Given the description of an element on the screen output the (x, y) to click on. 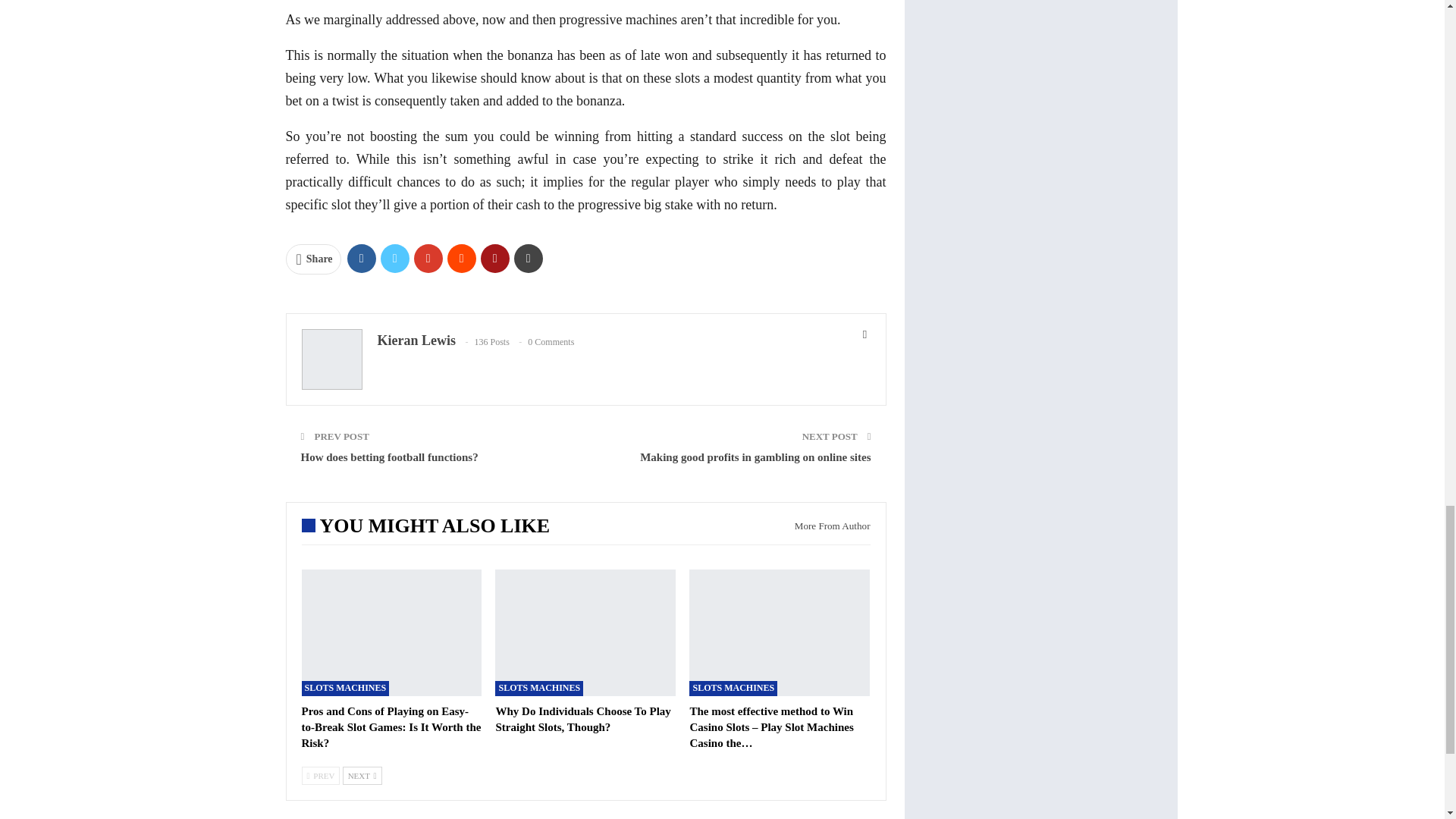
Why Do Individuals Choose To Play Straight Slots, Though? (585, 632)
Next (361, 775)
Why Do Individuals Choose To Play Straight Slots, Though? (582, 719)
Previous (320, 775)
